Given the description of an element on the screen output the (x, y) to click on. 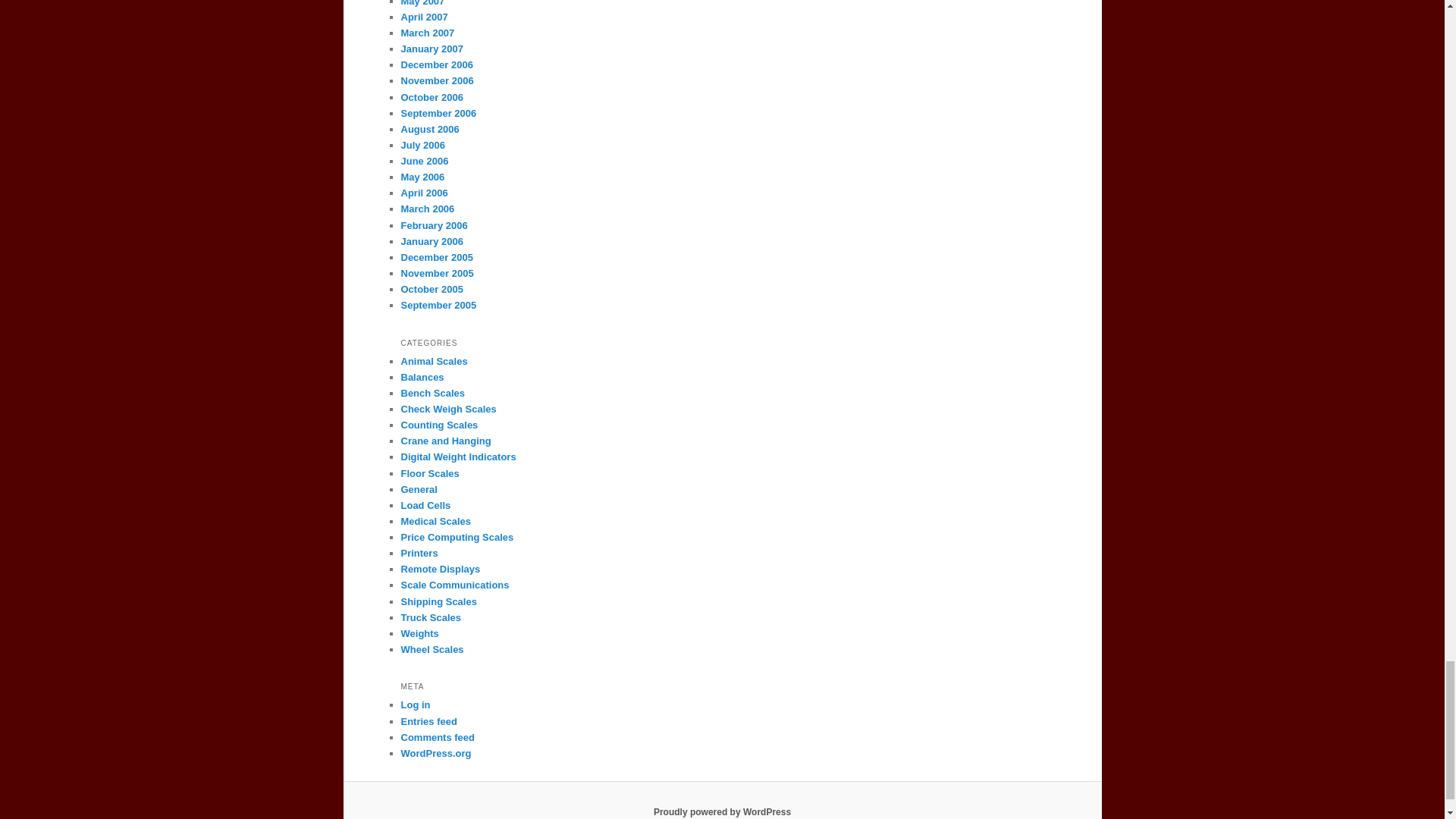
Semantic Personal Publishing Platform (721, 811)
